Given the description of an element on the screen output the (x, y) to click on. 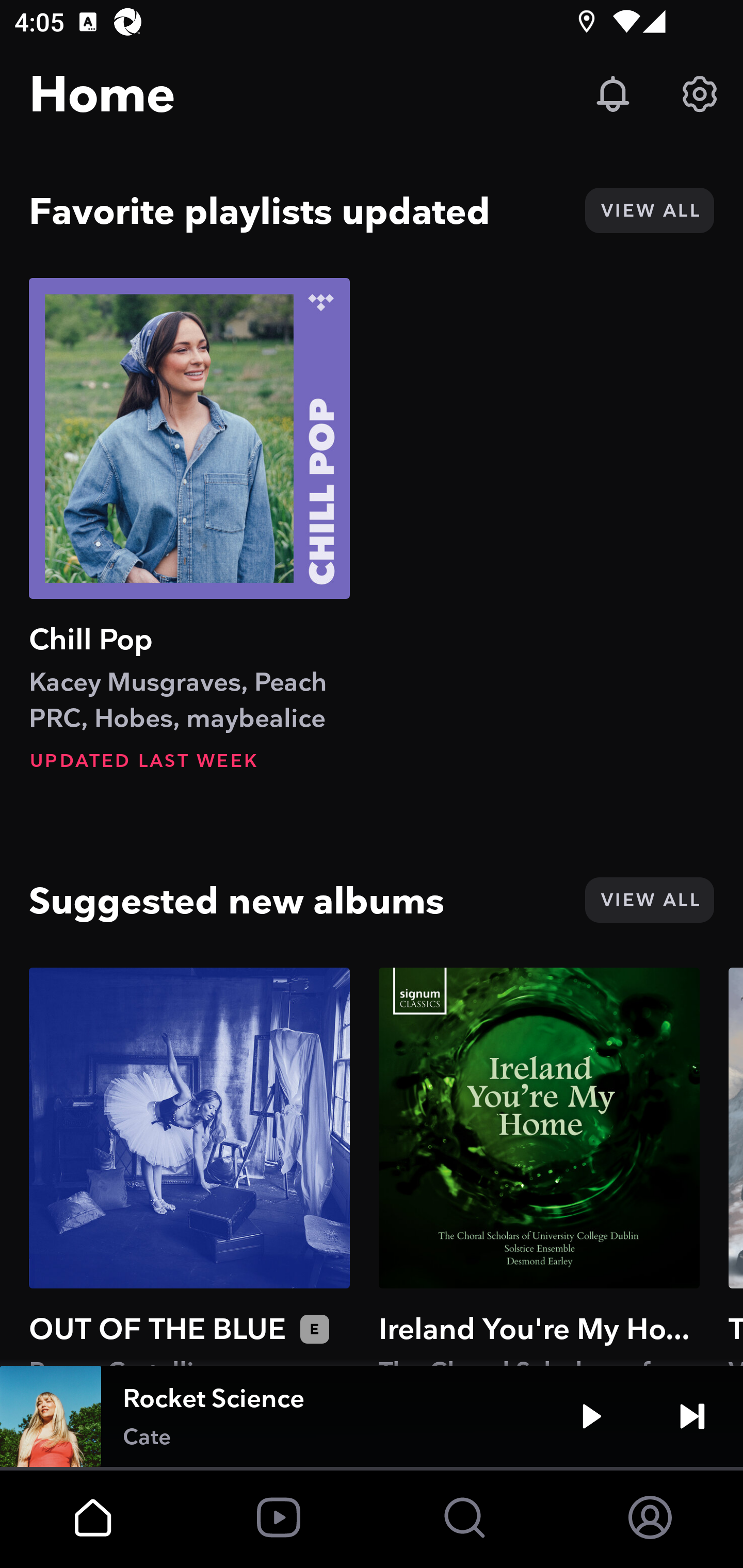
Updates (612, 93)
Settings (699, 93)
VIEW ALL (649, 210)
VIEW ALL (649, 899)
OUT OF THE BLUE Brynn Cartelli (188, 1166)
Rocket Science Cate Play (371, 1416)
Play (590, 1416)
